Given the description of an element on the screen output the (x, y) to click on. 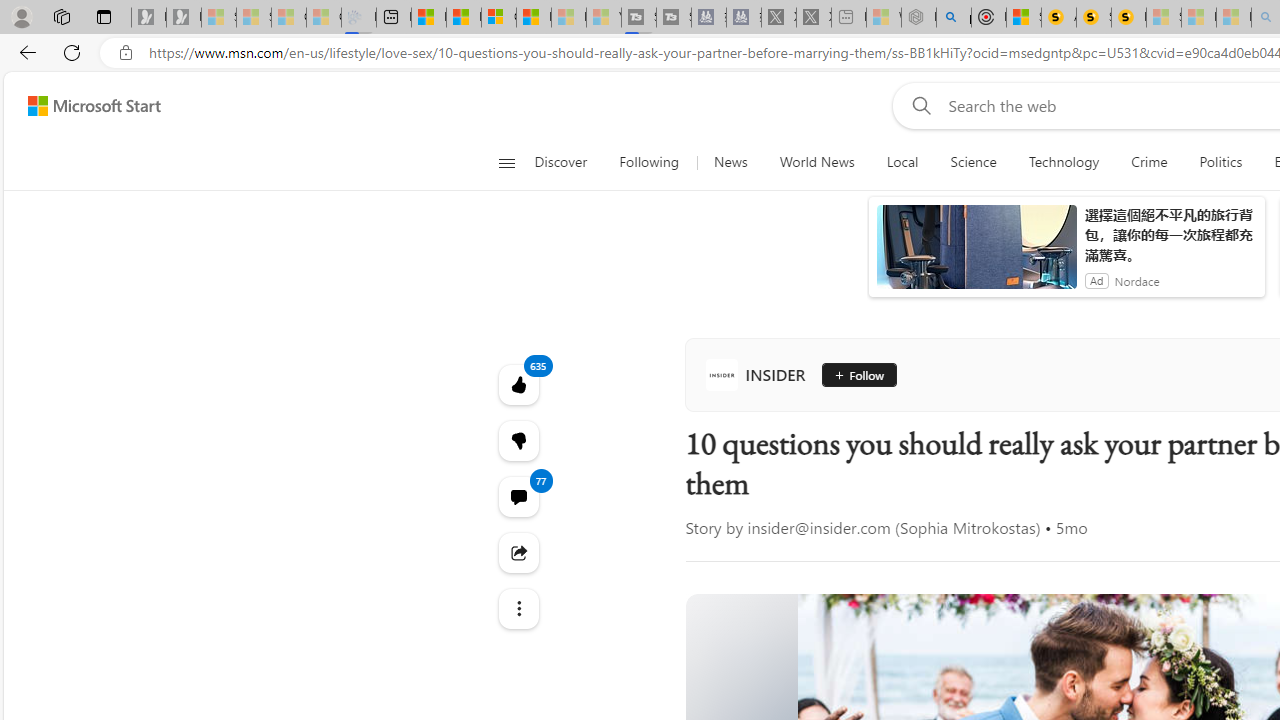
Crime (1149, 162)
View comments 77 Comment (517, 496)
Follow (858, 374)
635 Like (517, 384)
Technology (1064, 162)
Share this story (517, 552)
